Given the description of an element on the screen output the (x, y) to click on. 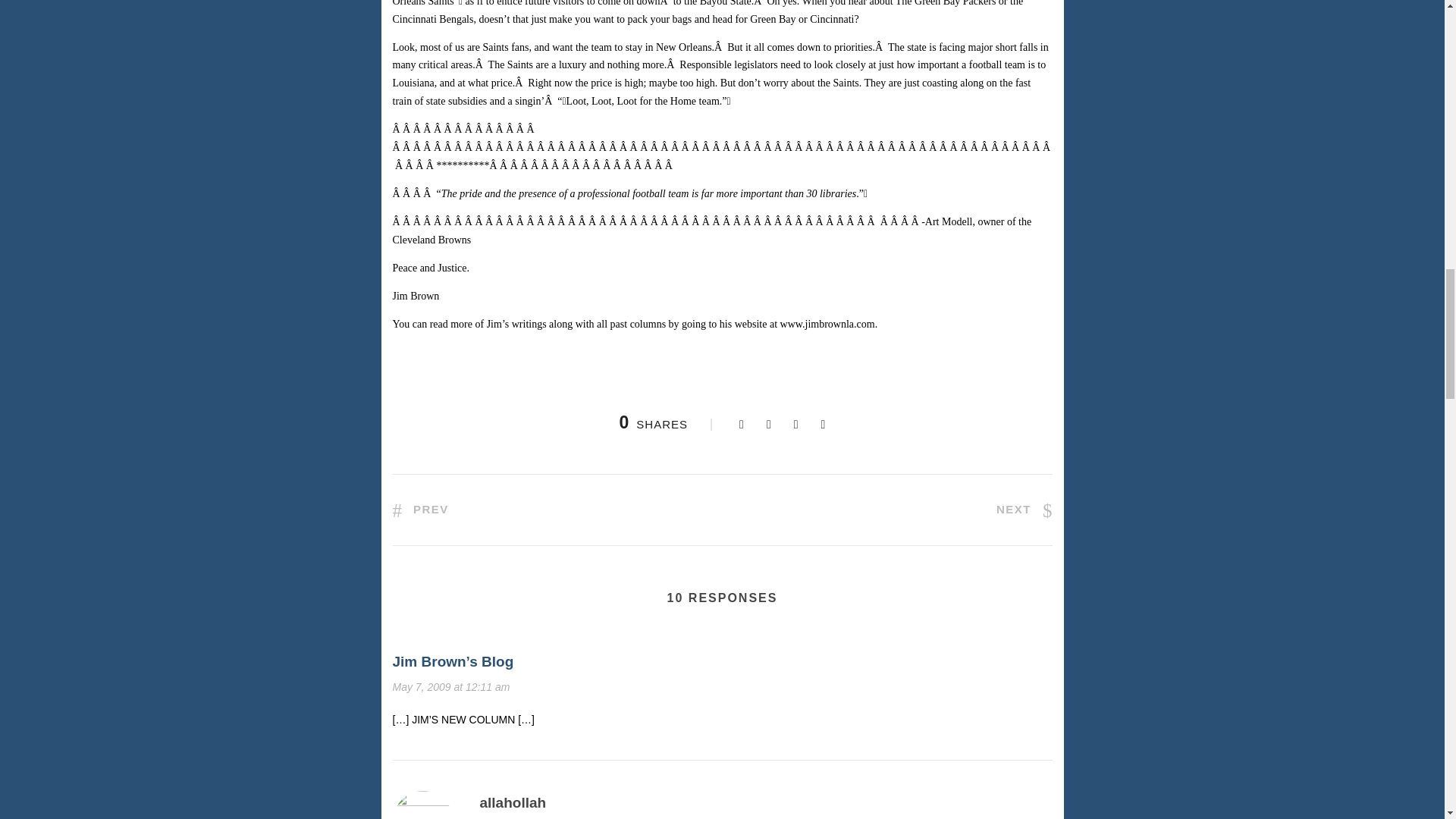
PREV (420, 509)
NEXT (1023, 509)
May 7, 2009 at 12:11 am (452, 686)
